Given the description of an element on the screen output the (x, y) to click on. 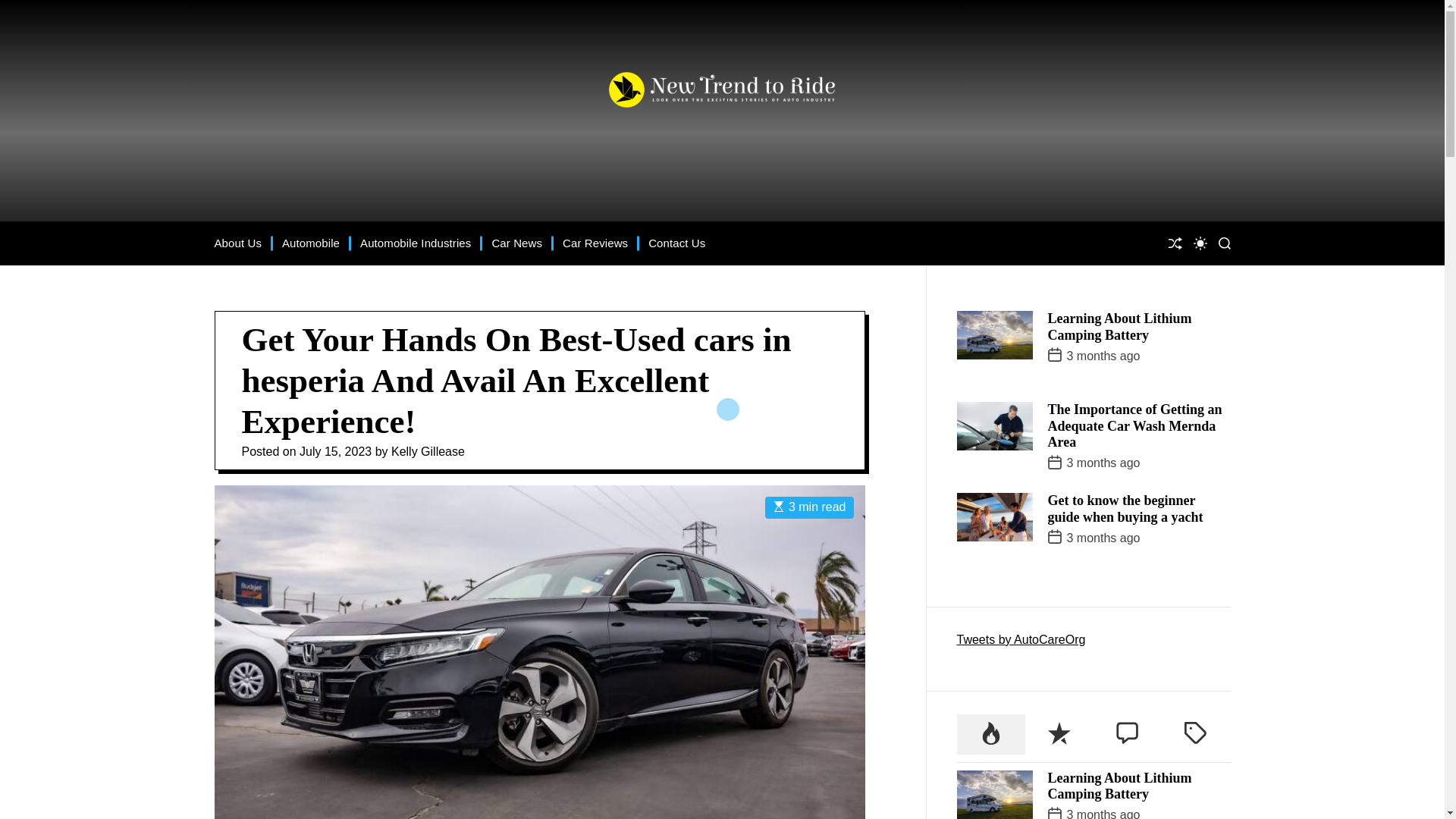
SWITCH COLOR MODE (1200, 243)
Kelly Gillease (427, 451)
SHUFFLE (1173, 243)
SEARCH (1223, 243)
Automobile Industries (414, 243)
July 15, 2023 (335, 451)
About Us (238, 243)
Car Reviews (594, 243)
Automobile (310, 243)
Contact Us (675, 243)
Car News (516, 243)
